Given the description of an element on the screen output the (x, y) to click on. 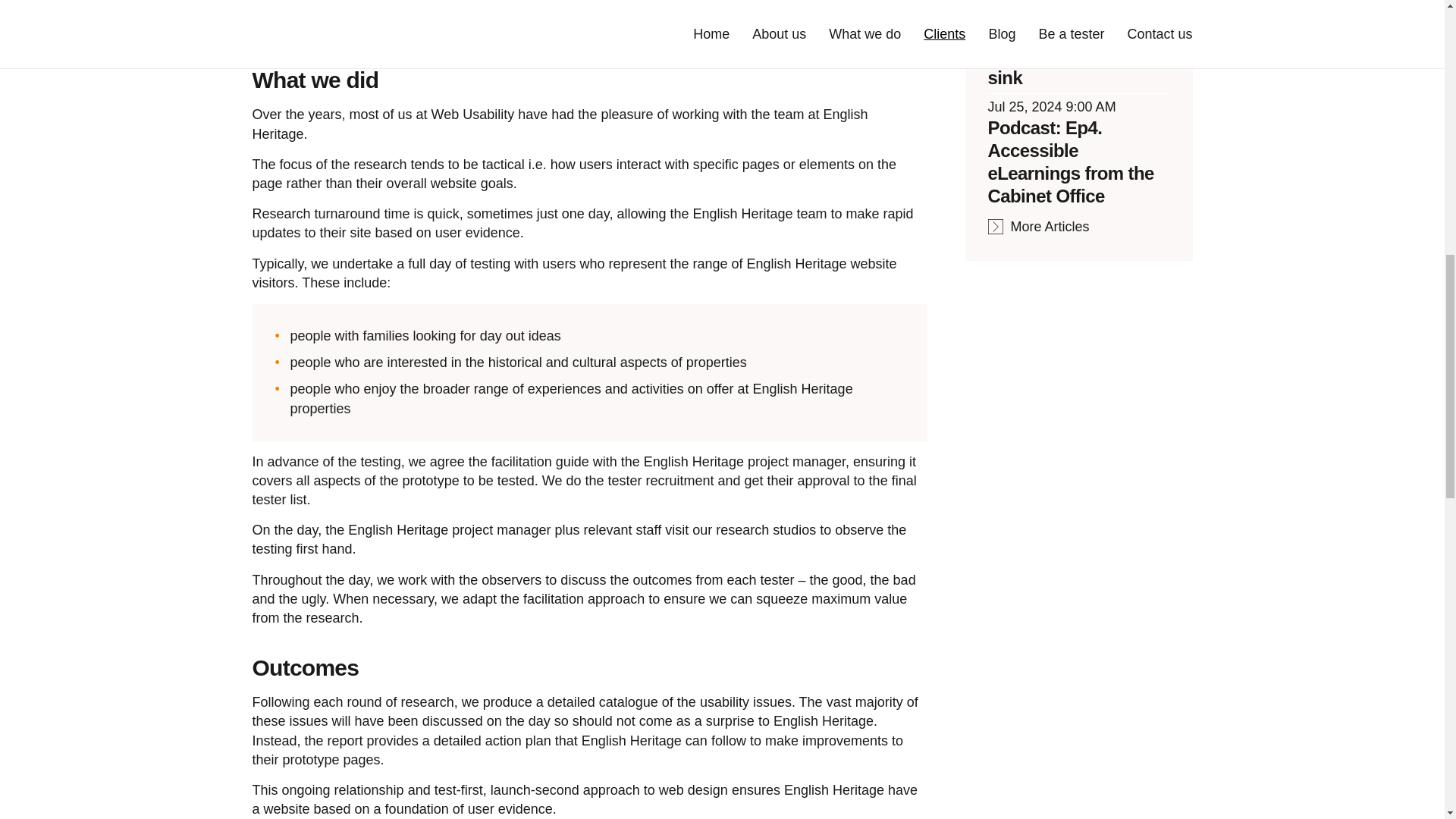
Podcast: Ep5. User testing the kitchen sink (1065, 53)
Podcast: Ep4. Accessible eLearnings from the Cabinet Office (1070, 161)
More Articles (1038, 226)
